Given the description of an element on the screen output the (x, y) to click on. 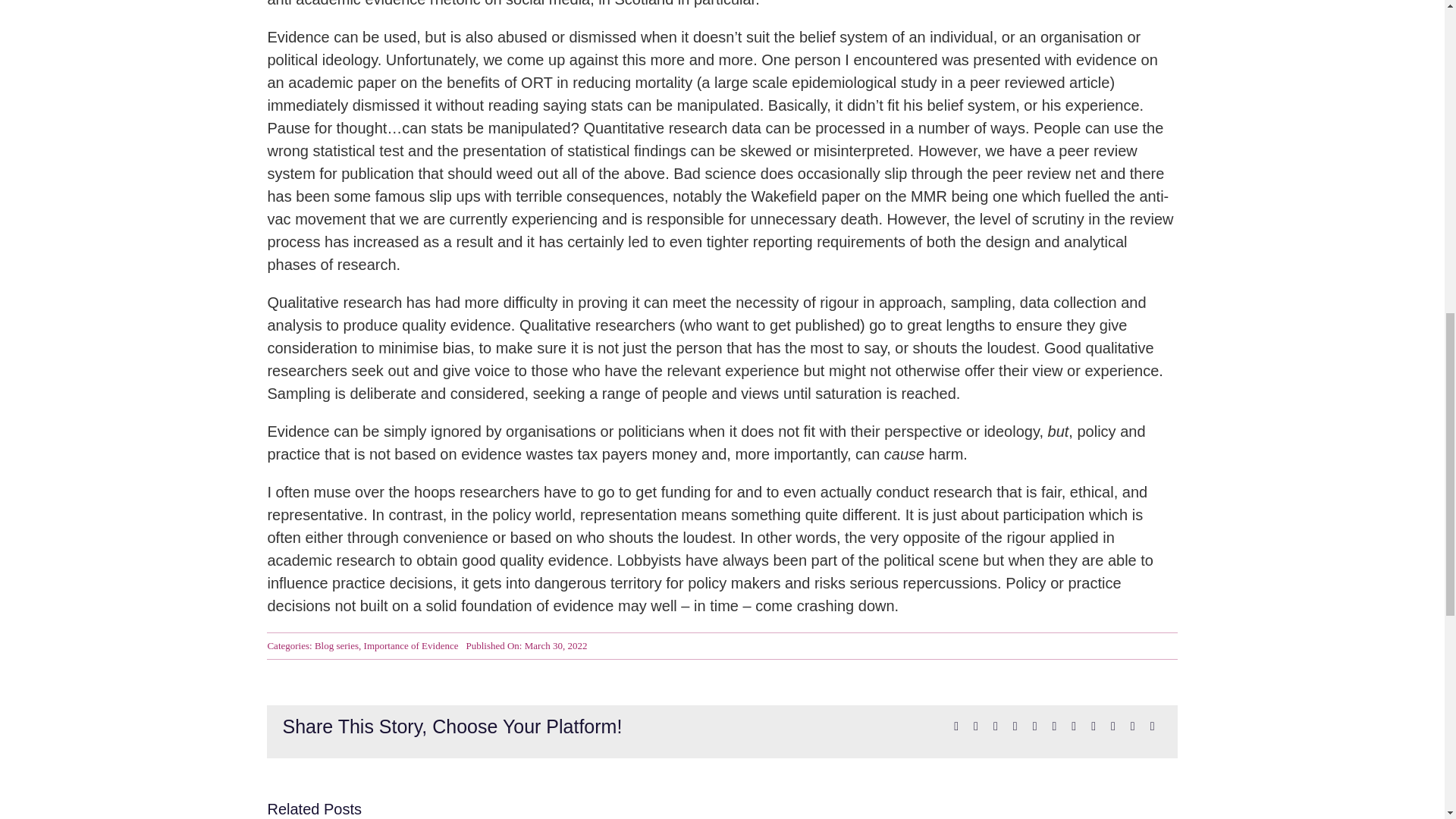
Importance of Evidence (411, 645)
Blog series (336, 645)
